Given the description of an element on the screen output the (x, y) to click on. 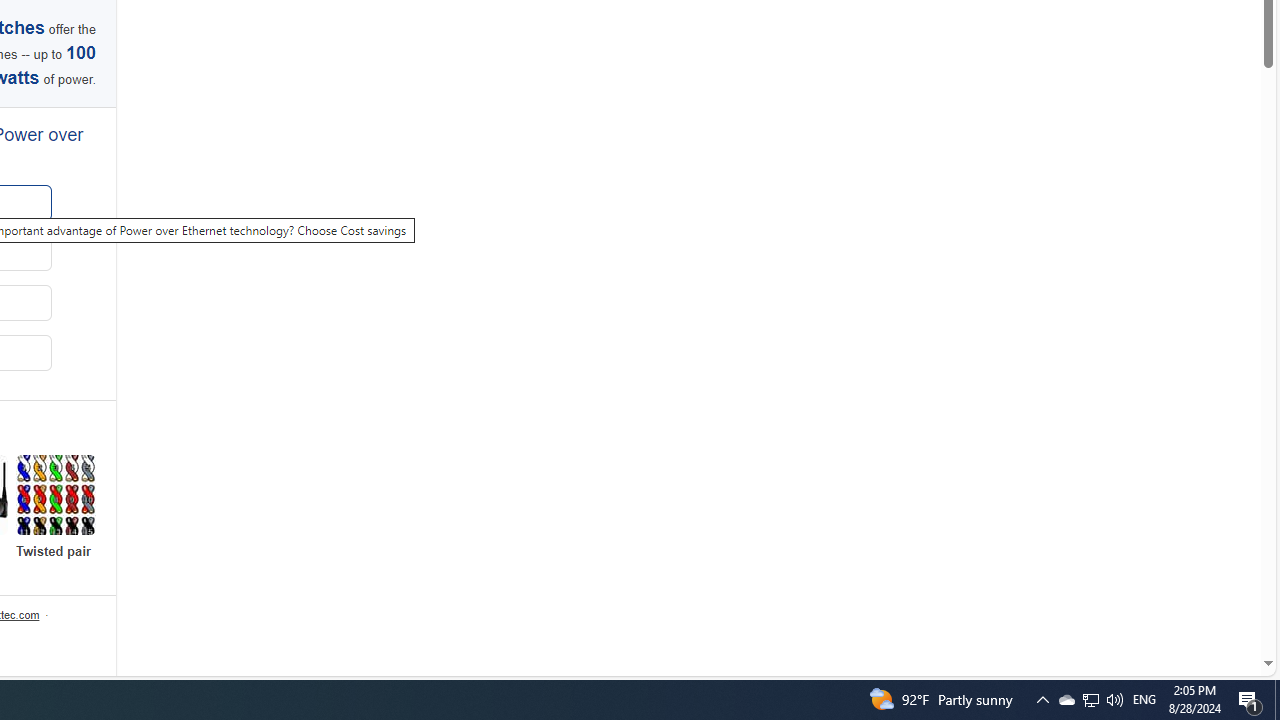
Search more (1222, 604)
AutomationID: mfa_root (1192, 603)
Twisted pair (55, 507)
Explore more Twisted pair (55, 507)
Twisted pair (55, 494)
